Given the description of an element on the screen output the (x, y) to click on. 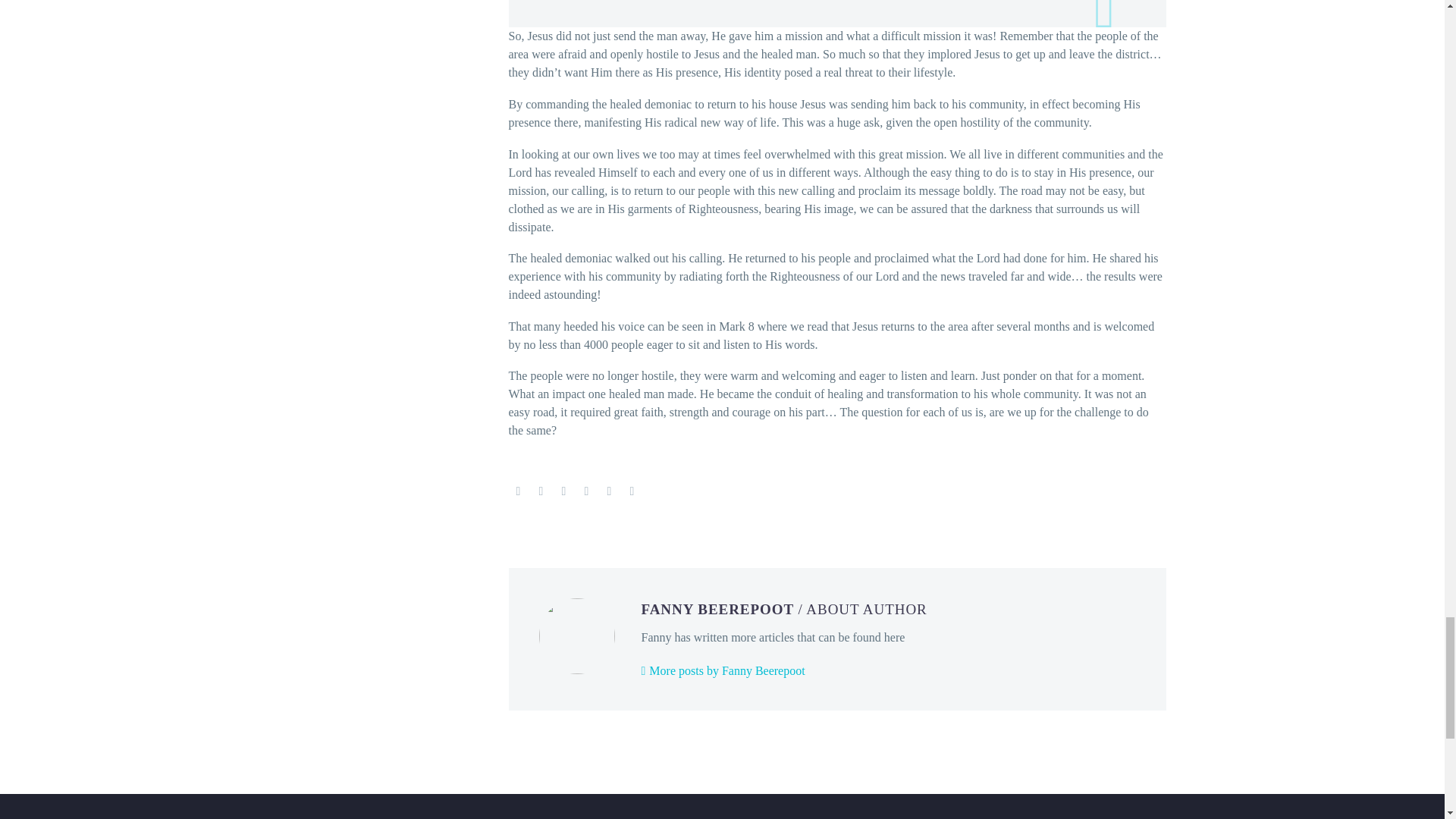
Twitter (541, 491)
Tumblr (586, 491)
More posts by Fanny Beerepoot (723, 670)
Reddit (632, 491)
Pinterest (563, 491)
Facebook (518, 491)
LinkedIn (609, 491)
